Given the description of an element on the screen output the (x, y) to click on. 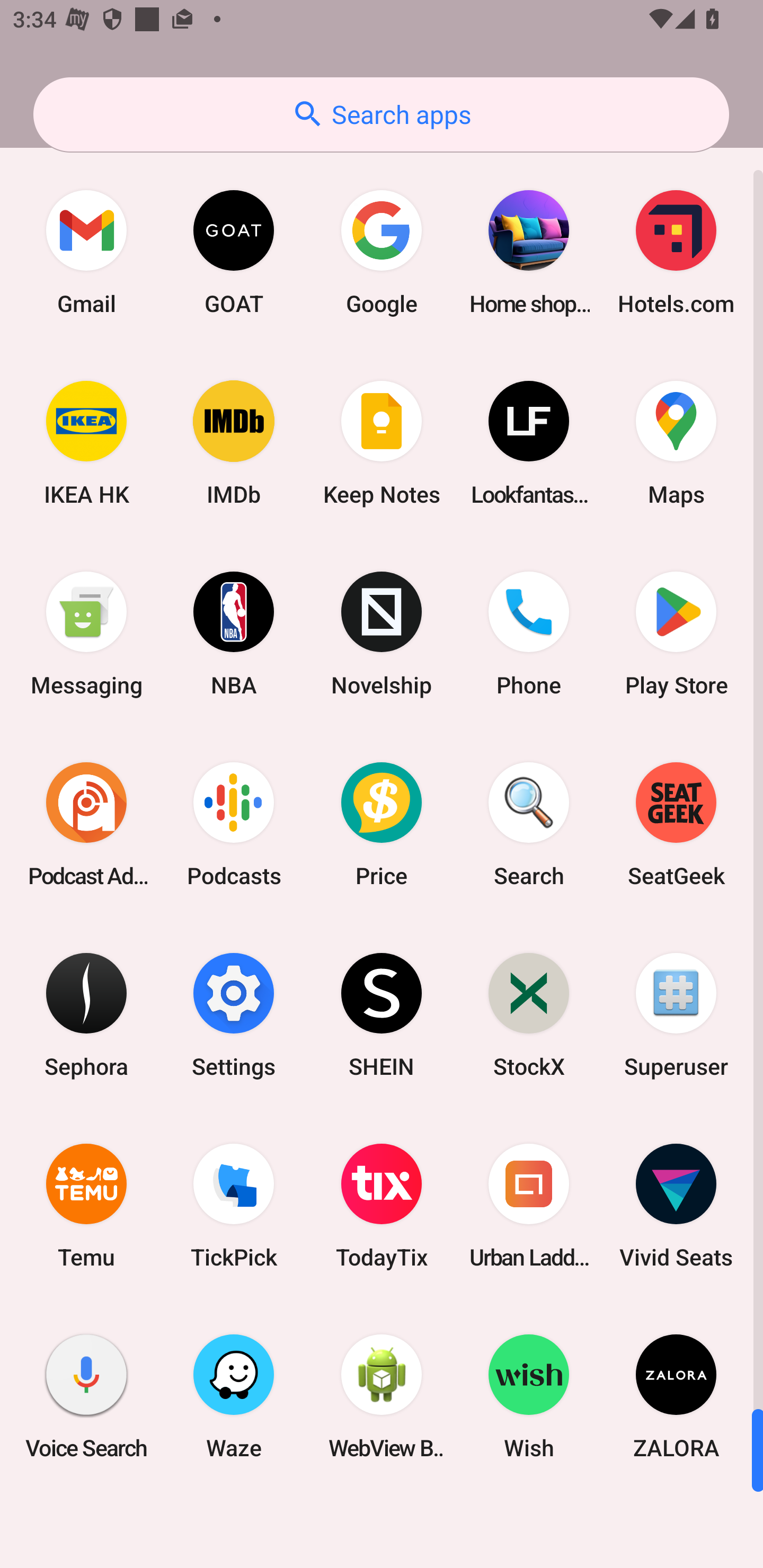
  Search apps (381, 114)
Gmail (86, 252)
GOAT (233, 252)
Google (381, 252)
Home shopping (528, 252)
Hotels.com (676, 252)
IKEA HK (86, 442)
IMDb (233, 442)
Keep Notes (381, 442)
Lookfantastic (528, 442)
Maps (676, 442)
Messaging (86, 633)
NBA (233, 633)
Novelship (381, 633)
Phone (528, 633)
Play Store (676, 633)
Podcast Addict (86, 823)
Podcasts (233, 823)
Price (381, 823)
Search (528, 823)
SeatGeek (676, 823)
Sephora (86, 1014)
Settings (233, 1014)
SHEIN (381, 1014)
StockX (528, 1014)
Superuser (676, 1014)
Temu (86, 1205)
TickPick (233, 1205)
TodayTix (381, 1205)
Urban Ladder (528, 1205)
Vivid Seats (676, 1205)
Voice Search (86, 1396)
Waze (233, 1396)
WebView Browser Tester (381, 1396)
Wish (528, 1396)
ZALORA (676, 1396)
